Given the description of an element on the screen output the (x, y) to click on. 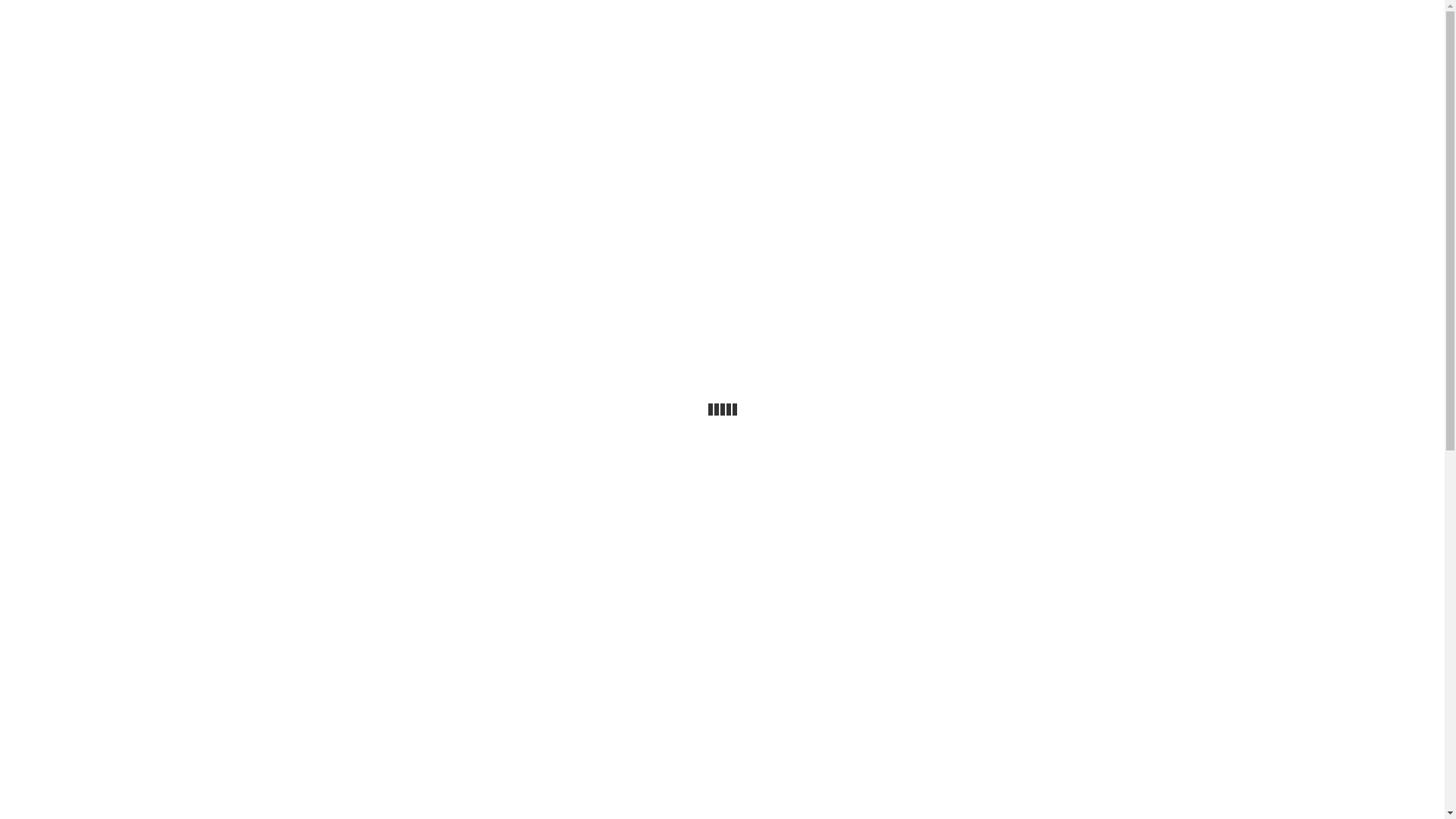
Advertisement Element type: hover (721, 206)
Goroda.by Element type: text (1124, 17)
